Given the description of an element on the screen output the (x, y) to click on. 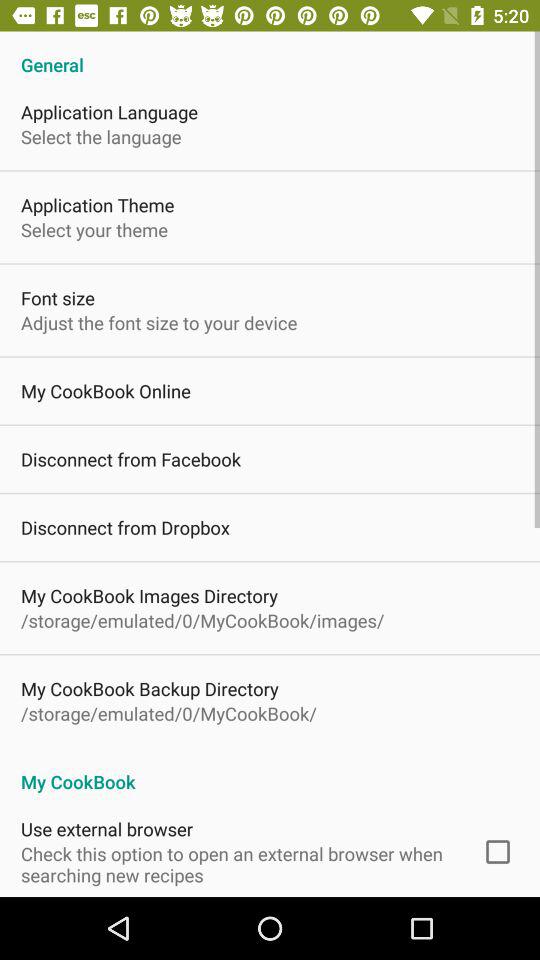
jump to application theme (97, 204)
